Given the description of an element on the screen output the (x, y) to click on. 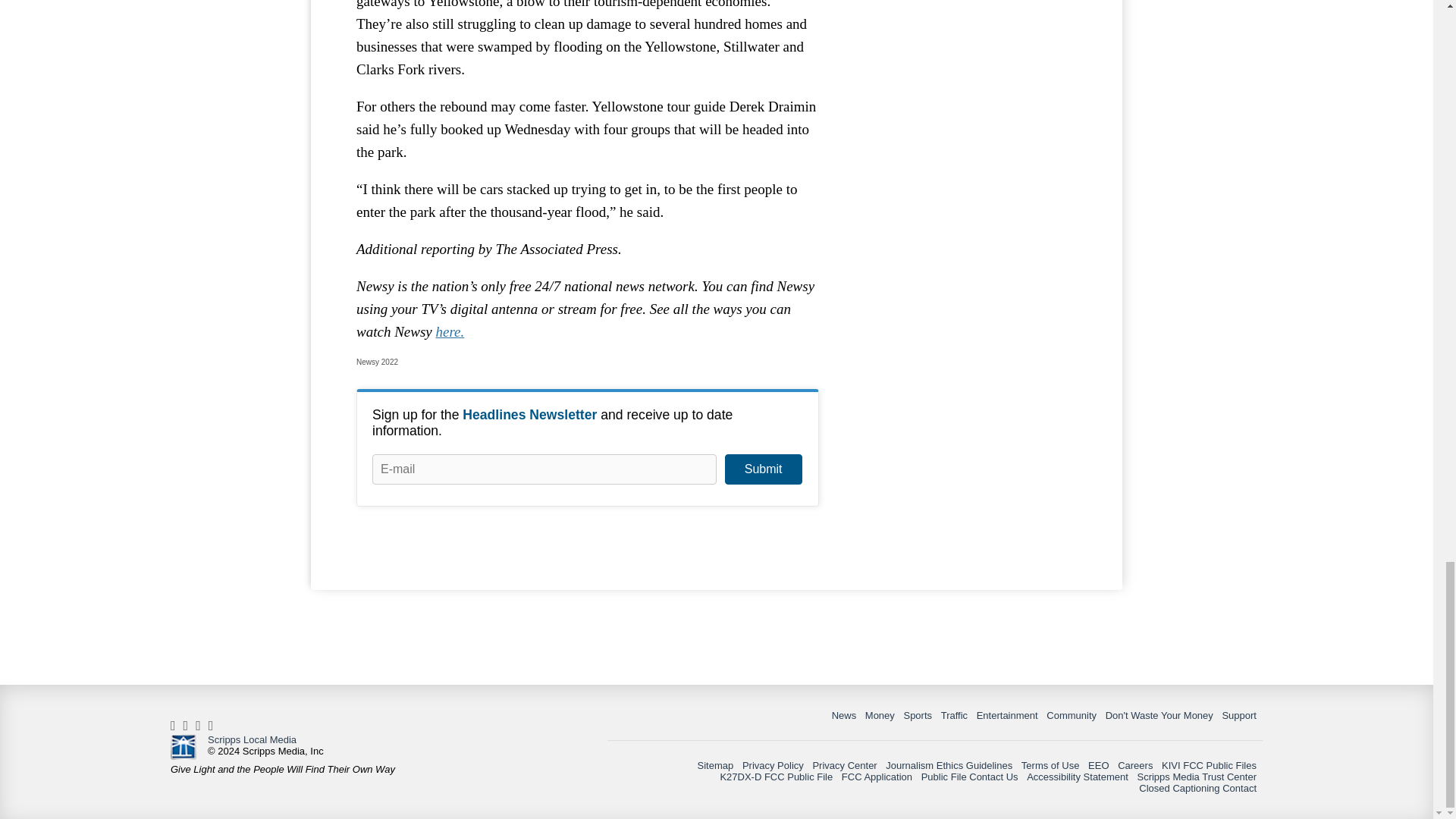
Submit (763, 469)
